Given the description of an element on the screen output the (x, y) to click on. 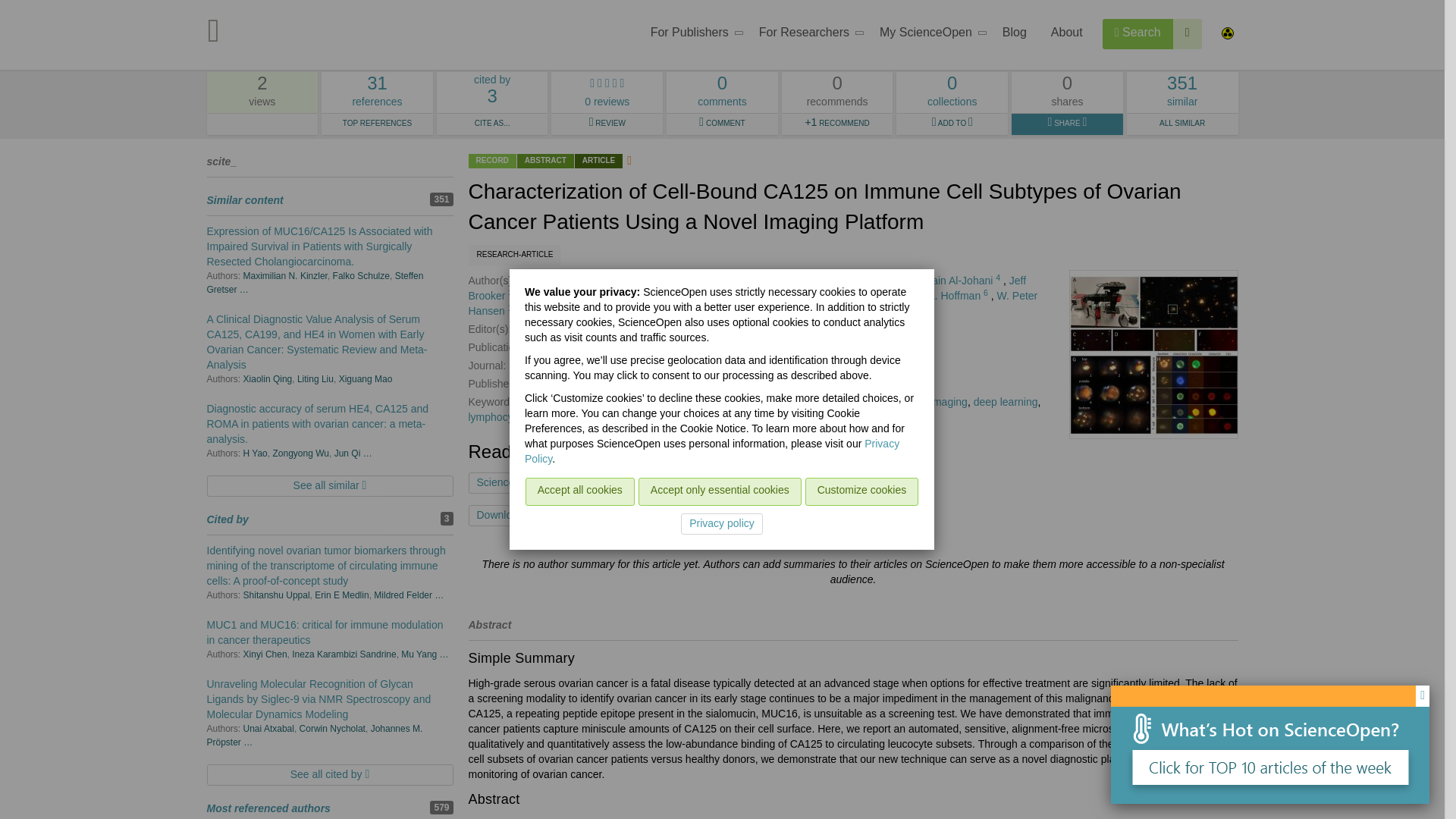
For Publishers (692, 34)
TOP REFERENCES (376, 124)
Search (1137, 33)
Bookmark (647, 515)
For Researchers (376, 92)
Advanced search (806, 34)
My ScienceOpen (1187, 33)
